Given the description of an element on the screen output the (x, y) to click on. 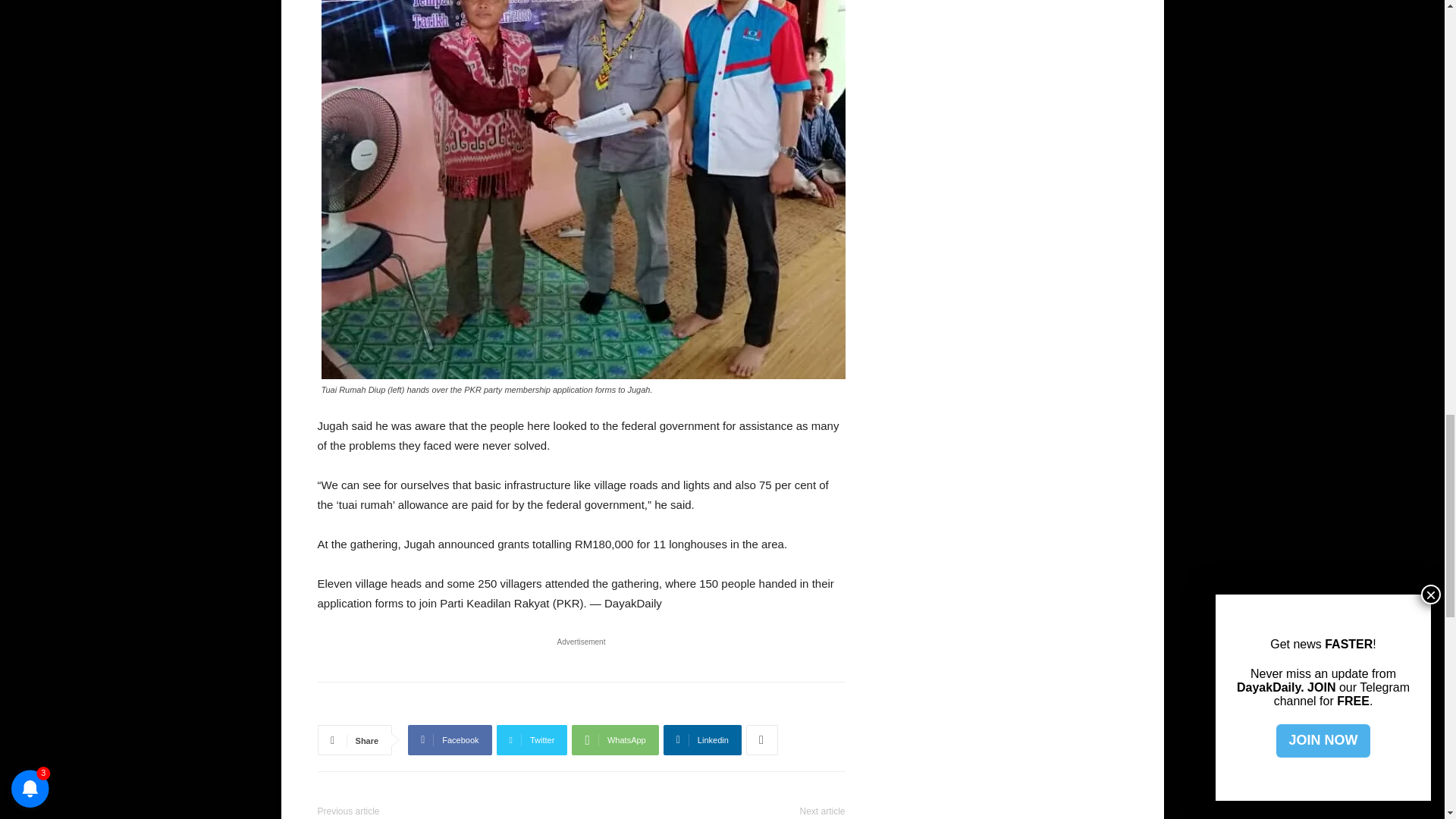
Twitter (531, 739)
Facebook (449, 739)
WhatsApp (615, 739)
Linkedin (702, 739)
